Given the description of an element on the screen output the (x, y) to click on. 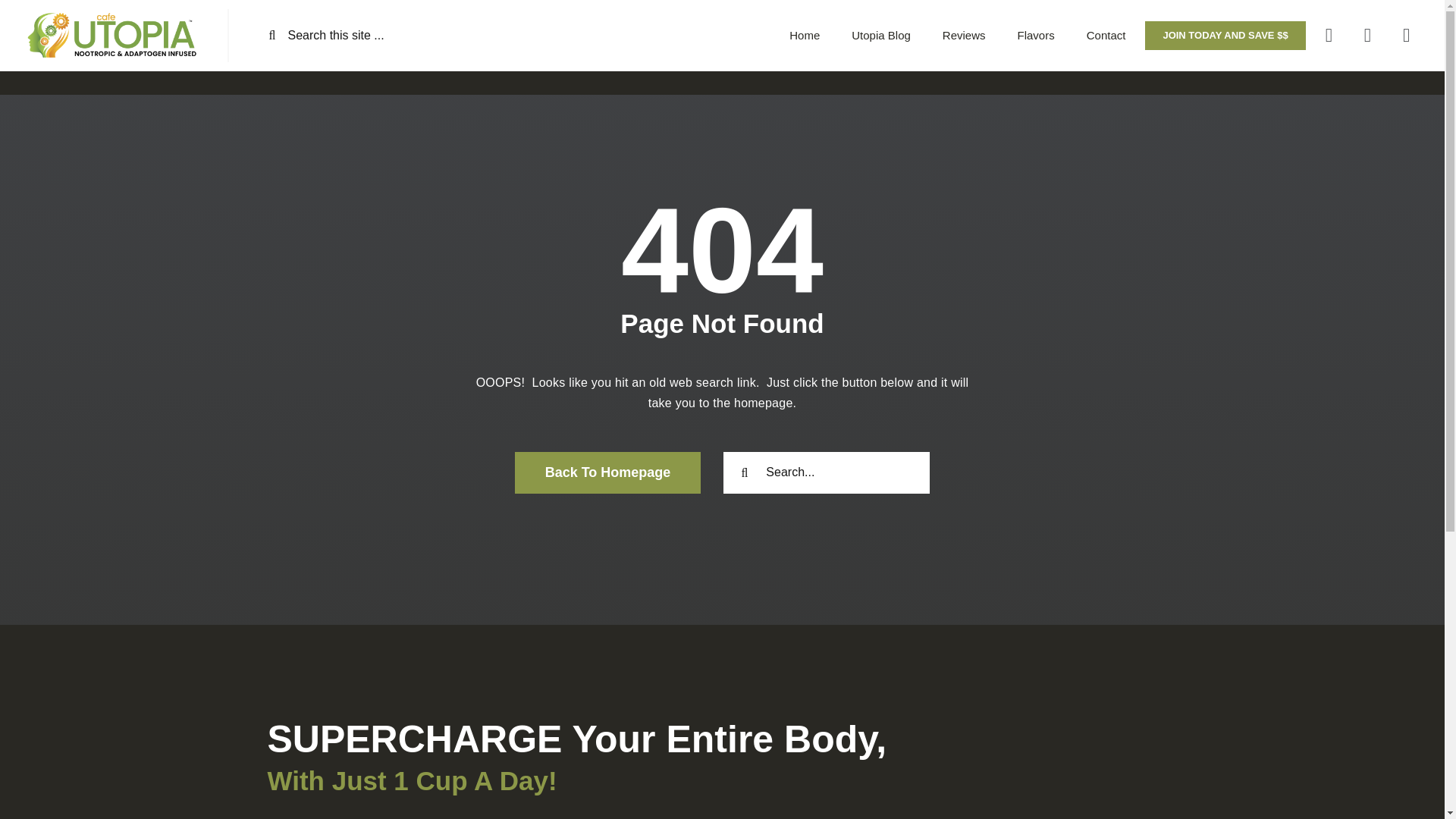
Back To Homepage (608, 472)
Utopia Blog (881, 35)
Reviews (963, 35)
Home (804, 35)
Log In (1312, 209)
Contact (1106, 35)
Flavors (1036, 35)
